Given the description of an element on the screen output the (x, y) to click on. 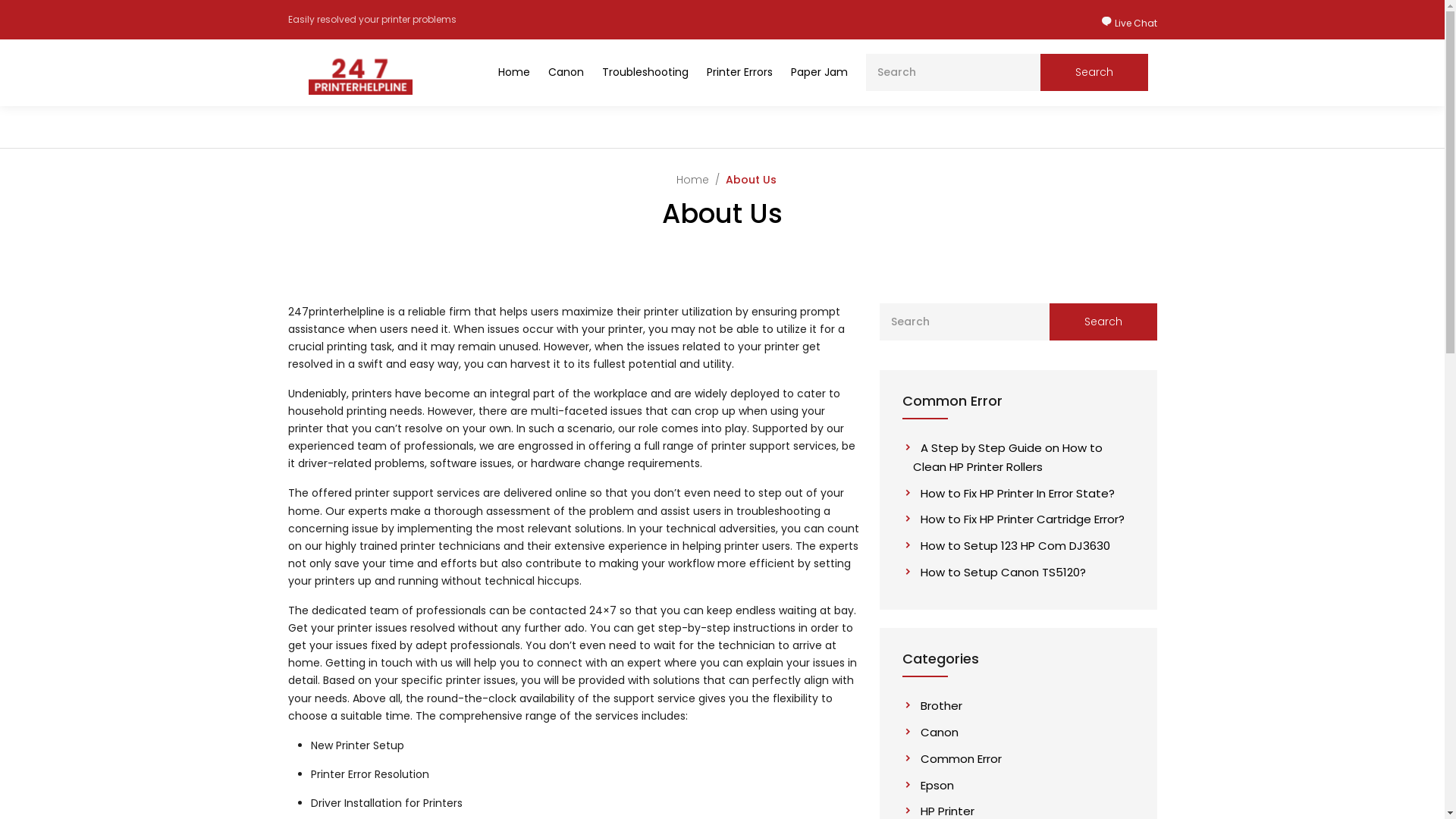
How to Setup 123 HP Com DJ3630 Element type: text (1011, 545)
Search Element type: text (1103, 321)
How to Fix HP Printer In Error State? Element type: text (1013, 493)
Brother Element type: text (937, 705)
A Step by Step Guide on How to Clean HP Printer Rollers Element type: text (1007, 456)
Epson Element type: text (933, 785)
Printer Errors Element type: text (739, 72)
Home Element type: text (692, 179)
Search Element type: text (1094, 72)
How to Fix HP Printer Cartridge Error? Element type: text (1018, 519)
Troubleshooting Element type: text (645, 72)
Canon Element type: text (565, 72)
Home Element type: text (513, 72)
How to Setup Canon TS5120? Element type: text (999, 572)
Paper Jam Element type: text (818, 72)
Common Error Element type: text (957, 758)
Live Chat Element type: text (1129, 22)
Canon Element type: text (935, 732)
